Given the description of an element on the screen output the (x, y) to click on. 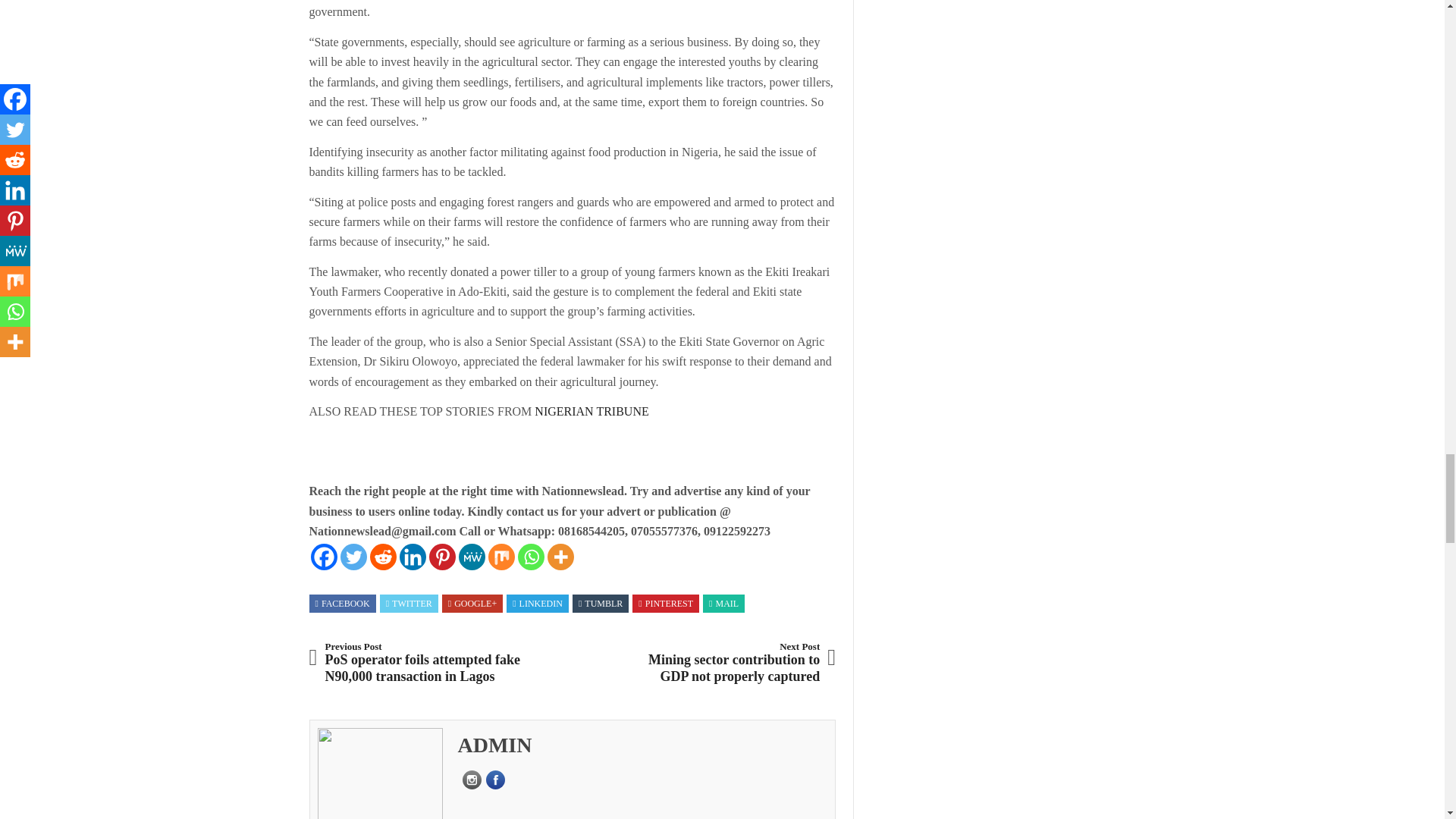
NIGERIAN TRIBUNE (589, 410)
Twitter (352, 556)
Facebook (324, 556)
